Given the description of an element on the screen output the (x, y) to click on. 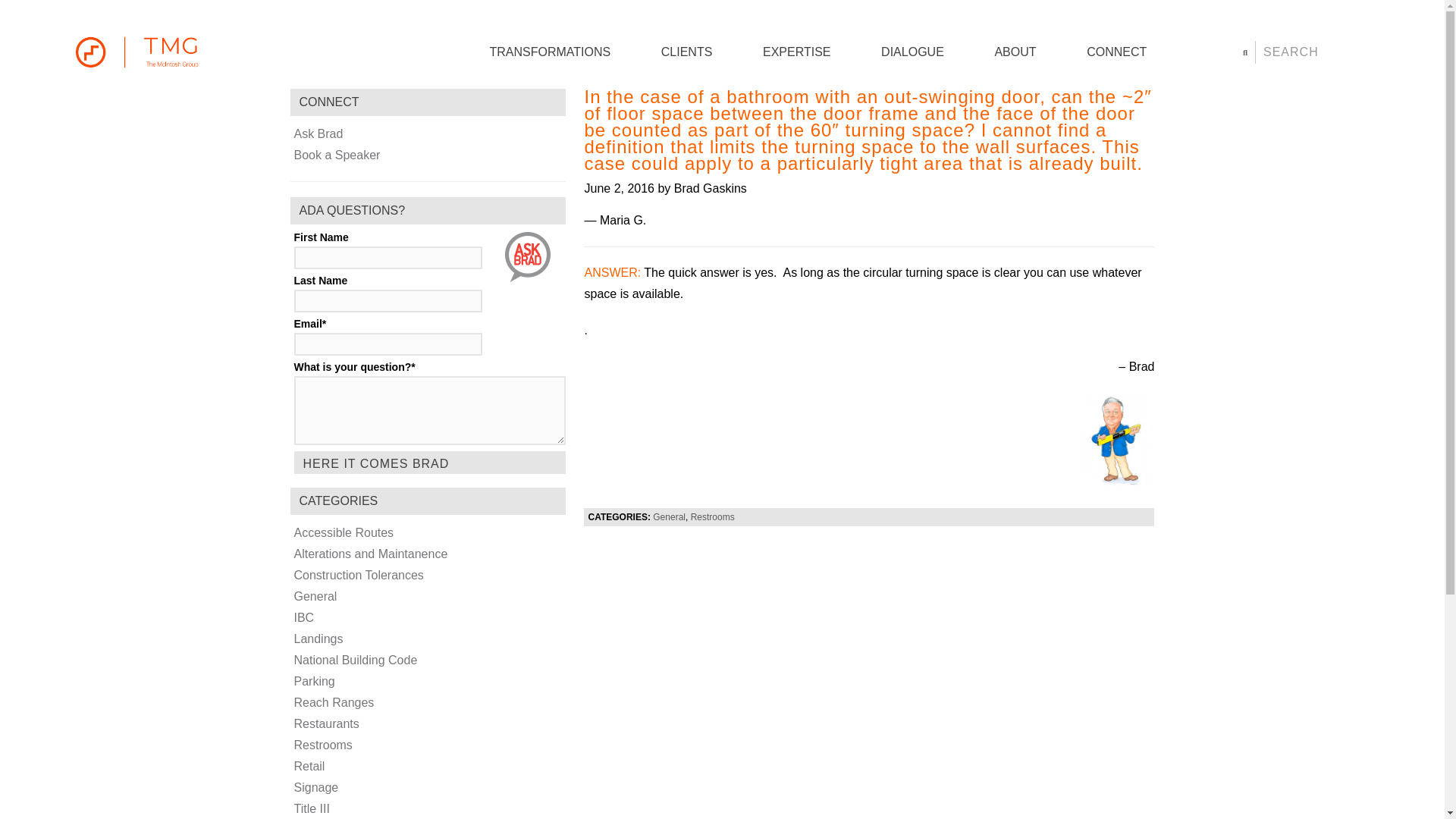
ABOUT (1014, 51)
Restrooms (712, 516)
Ask Brad (318, 133)
EXPERTISE (796, 51)
TRANSFORMATIONS (549, 51)
Alterations and Maintanence (371, 553)
Book a Speaker (337, 154)
Here it comes Brad (430, 462)
Accessible Routes (344, 532)
CLIENTS (687, 51)
CONNECT (1116, 51)
DIALOGUE (911, 51)
Construction Tolerances (358, 574)
Here it comes Brad (430, 462)
General (668, 516)
